Given the description of an element on the screen output the (x, y) to click on. 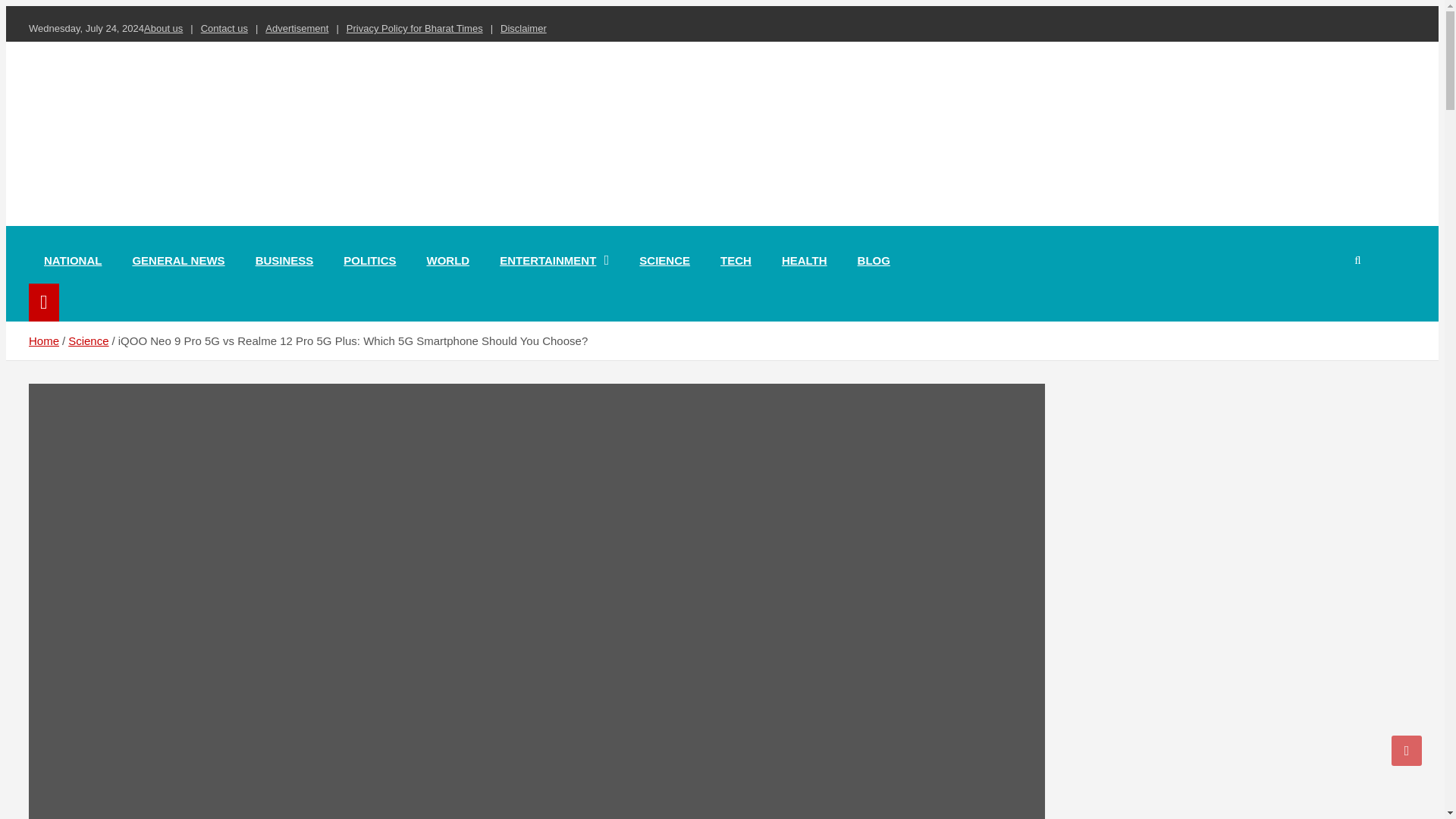
SCIENCE (664, 260)
HEALTH (805, 260)
Home (44, 340)
BUSINESS (284, 260)
Bharat Times English News (208, 222)
BLOG (874, 260)
Contact us (223, 29)
Science (87, 340)
TECH (735, 260)
ENTERTAINMENT (554, 260)
Advertisement (296, 29)
Disclaimer (523, 29)
NATIONAL (72, 260)
WORLD (447, 260)
